Given the description of an element on the screen output the (x, y) to click on. 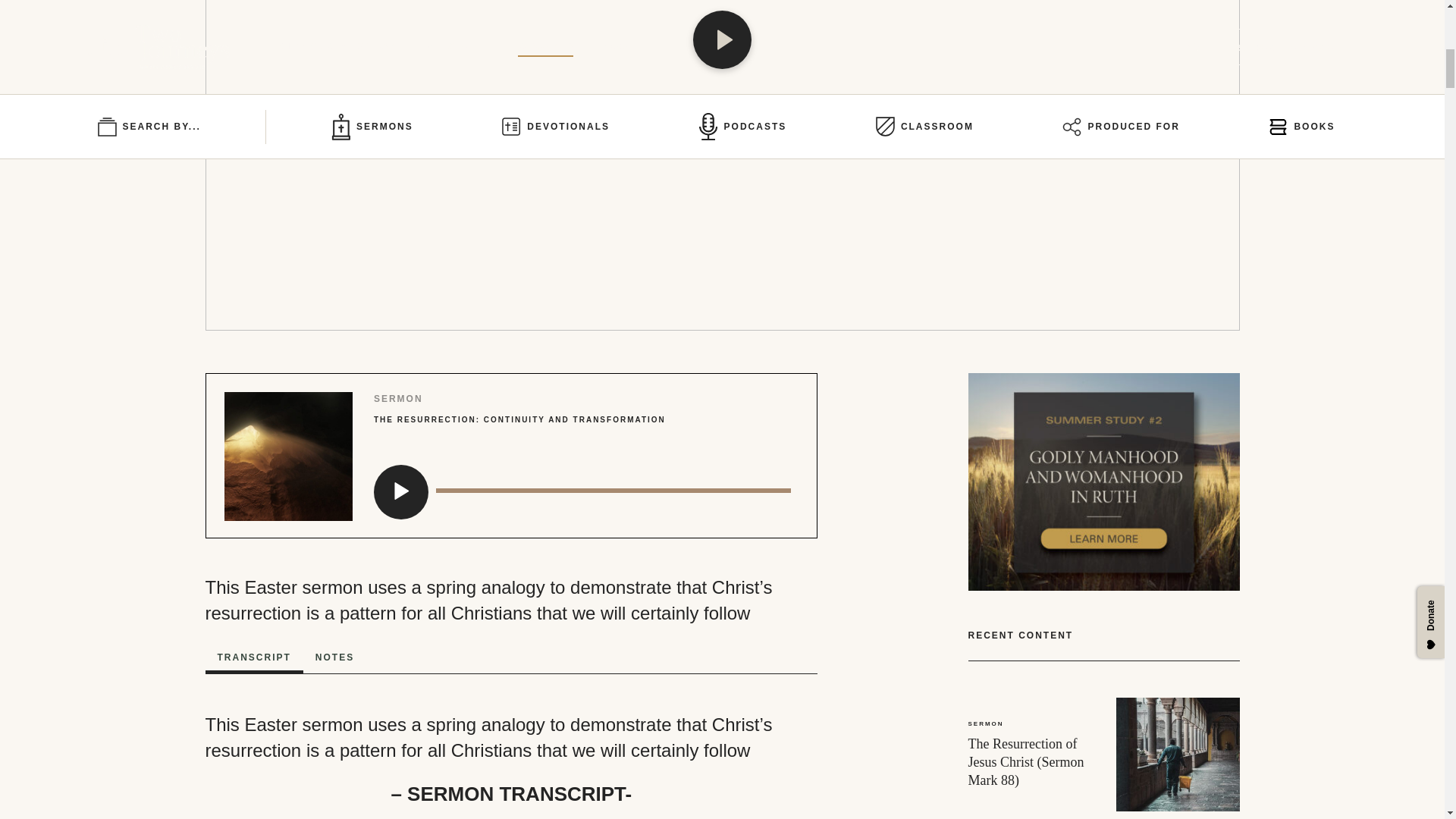
Play (397, 488)
TRANSCRIPT (253, 658)
NOTES (334, 657)
An Invitation do Study Biblical Manhood and Womanhood (1103, 481)
